Given the description of an element on the screen output the (x, y) to click on. 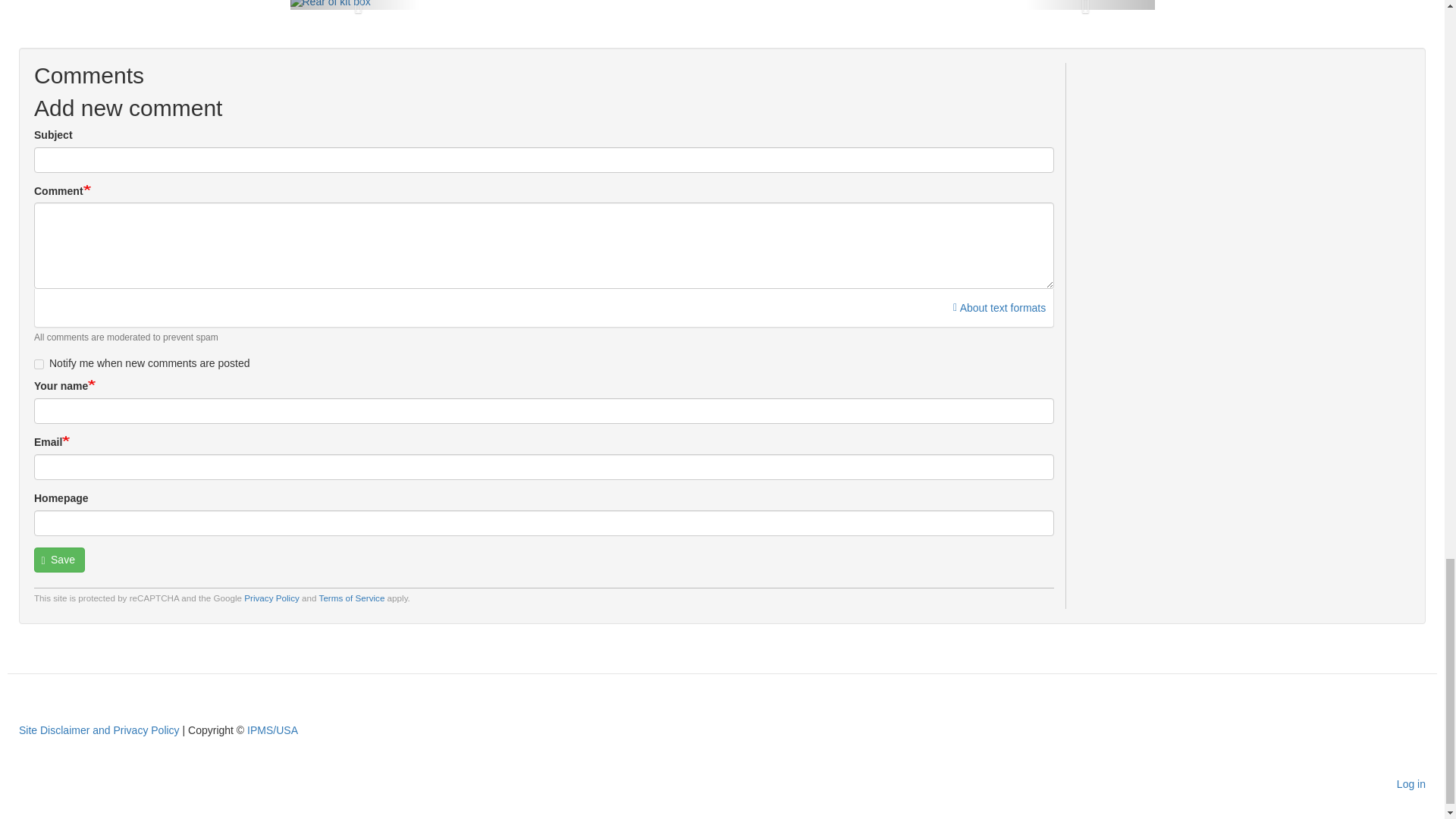
Rear of kit box (329, 3)
1 (38, 364)
Rear of kit box (329, 4)
